Given the description of an element on the screen output the (x, y) to click on. 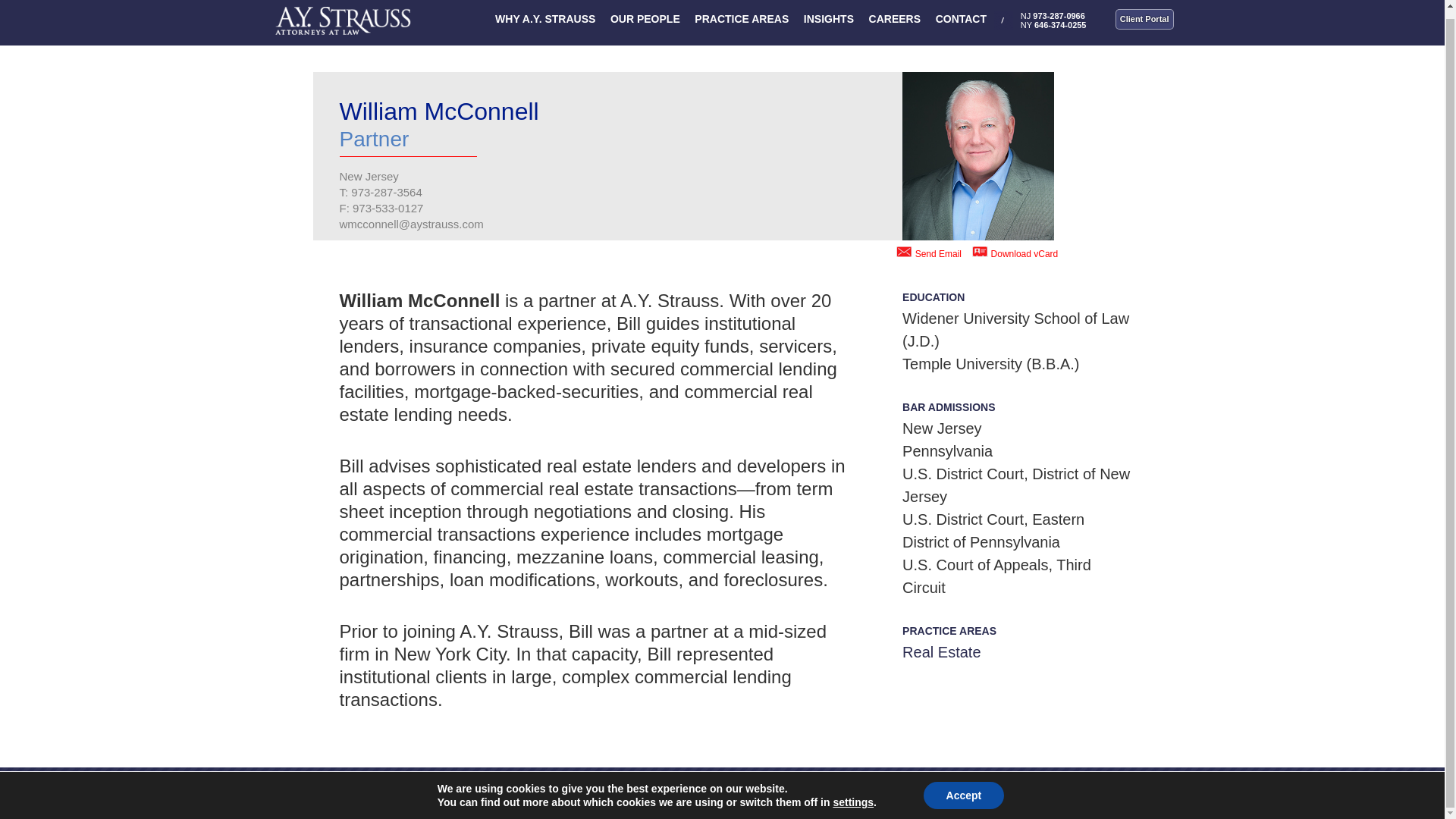
Our People (799, 795)
CAREERS (894, 22)
646-374-0255 (1059, 24)
Privacy Policy (1080, 795)
A.Y. Strauss (342, 17)
Send Email (937, 253)
A.Y. Strauss (354, 795)
Insights (849, 795)
Client Portal (1144, 19)
Twitter (937, 795)
973-287-3564 (386, 192)
PRACTICE AREAS (741, 22)
settings (852, 794)
INSIGHTS (828, 22)
CONTACT (961, 22)
